Given the description of an element on the screen output the (x, y) to click on. 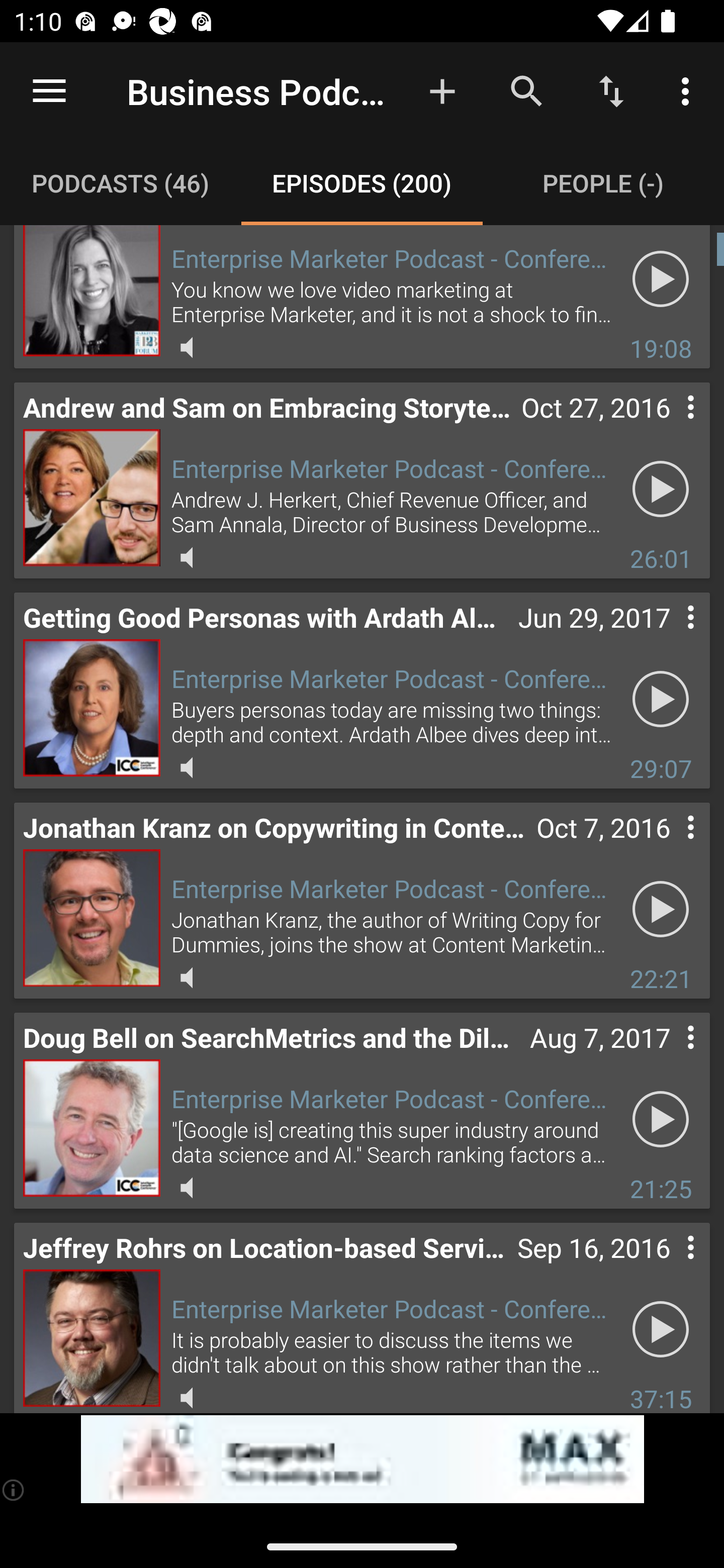
Open navigation sidebar (49, 91)
Create a 'Search Based Podcast' (442, 90)
Search (526, 90)
Sort (611, 90)
More options (688, 90)
Podcasts (46) PODCASTS (46) (120, 183)
People (-) PEOPLE (-) (603, 183)
Play (660, 277)
Contextual menu (668, 426)
Play (660, 488)
Contextual menu (668, 636)
Play (660, 698)
Contextual menu (668, 847)
Play (660, 908)
Contextual menu (668, 1057)
Play (660, 1118)
Contextual menu (668, 1267)
Play (660, 1328)
app-monetization (362, 1459)
(i) (14, 1489)
